Given the description of an element on the screen output the (x, y) to click on. 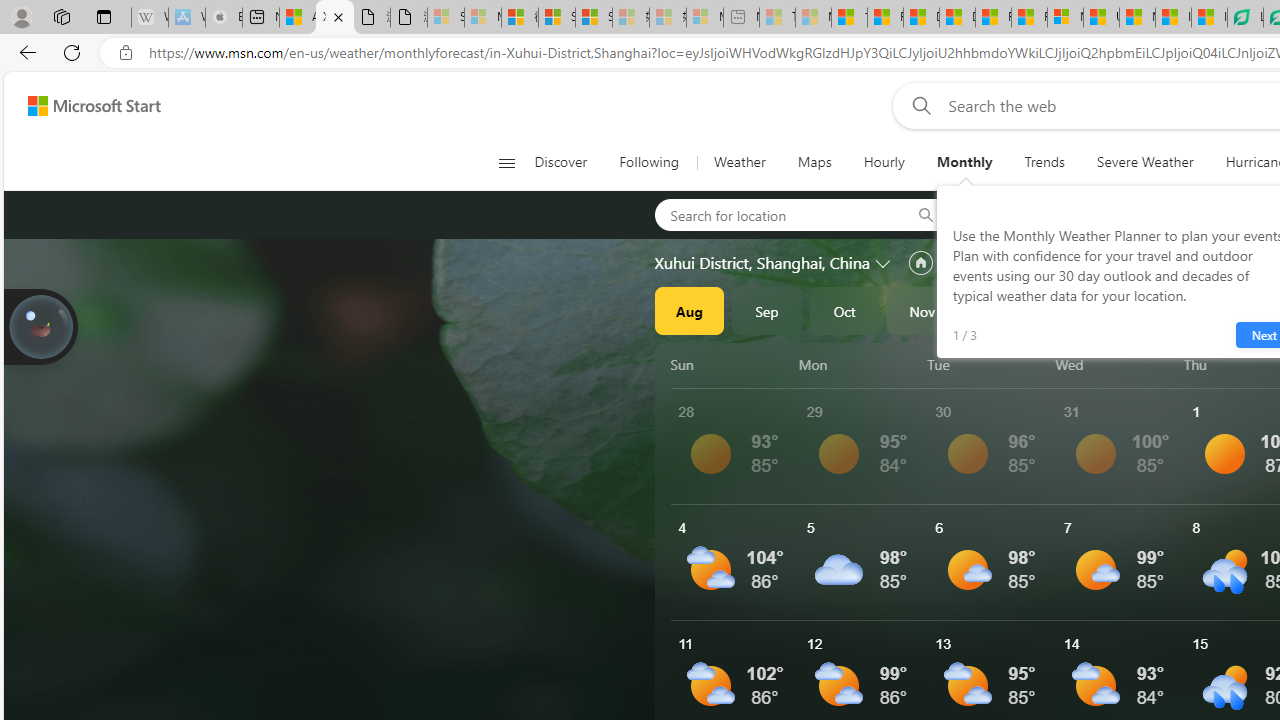
Nov (922, 310)
Monthly (964, 162)
Set as primary location (920, 263)
Nov (922, 310)
Search for location (776, 214)
Wed (1115, 363)
Microsoft Services Agreement - Sleeping (482, 17)
